Given the description of an element on the screen output the (x, y) to click on. 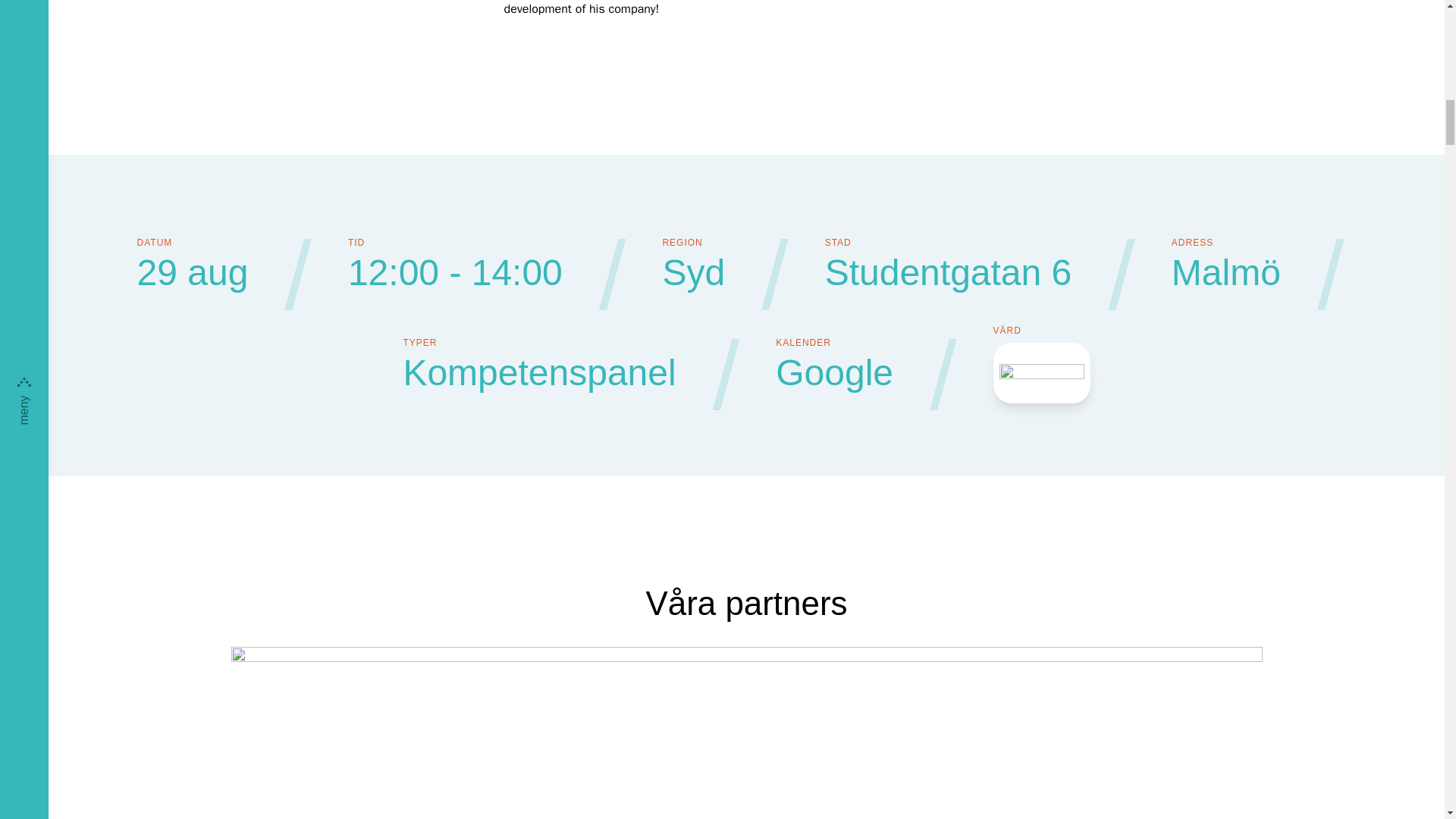
Google (834, 372)
